Given the description of an element on the screen output the (x, y) to click on. 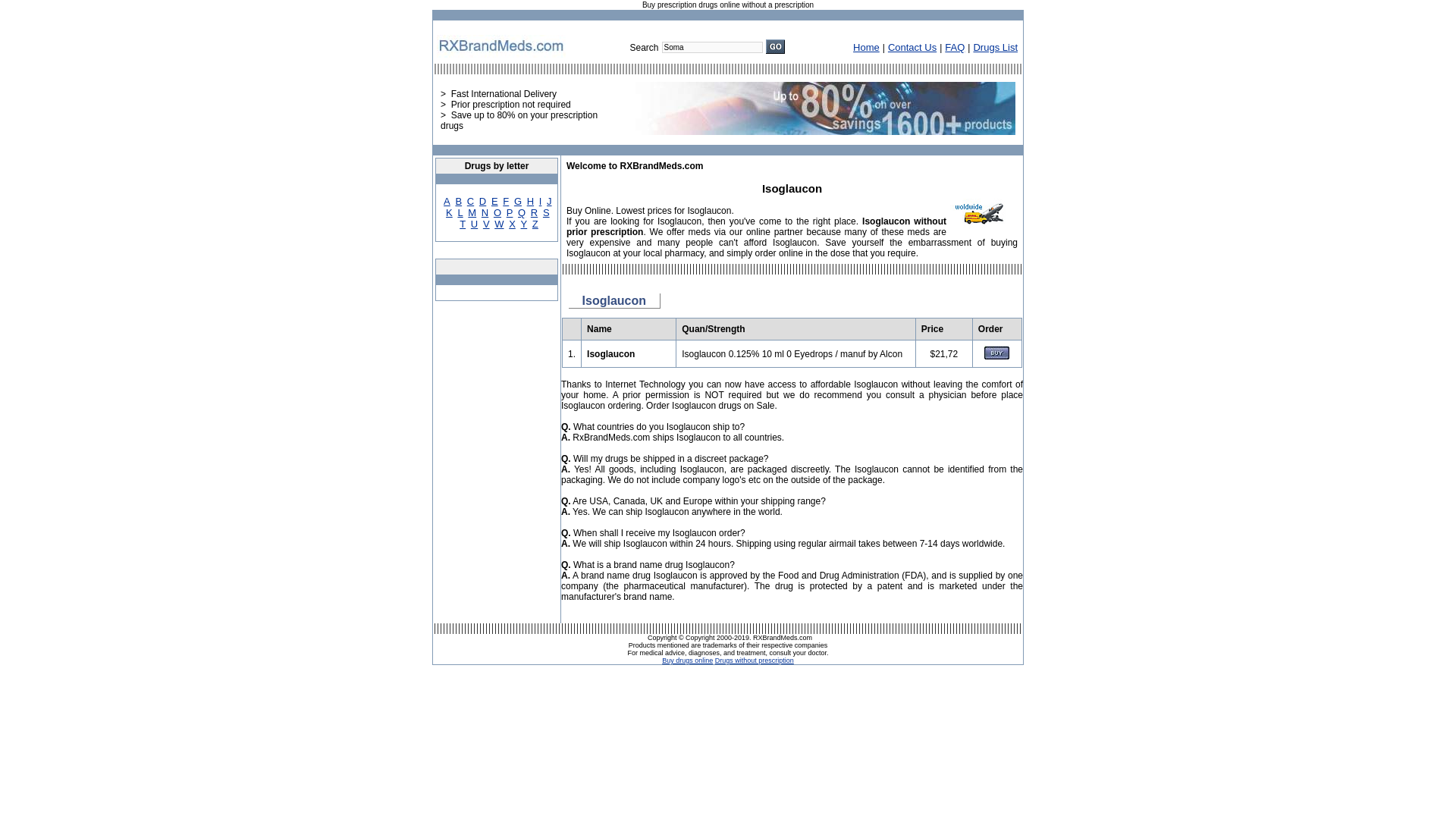
Soma (712, 47)
FAQ (953, 47)
Drugs without prescription (753, 660)
Buy drugs online (687, 660)
Drugs List (994, 47)
Contact Us (912, 47)
Home (866, 47)
